Given the description of an element on the screen output the (x, y) to click on. 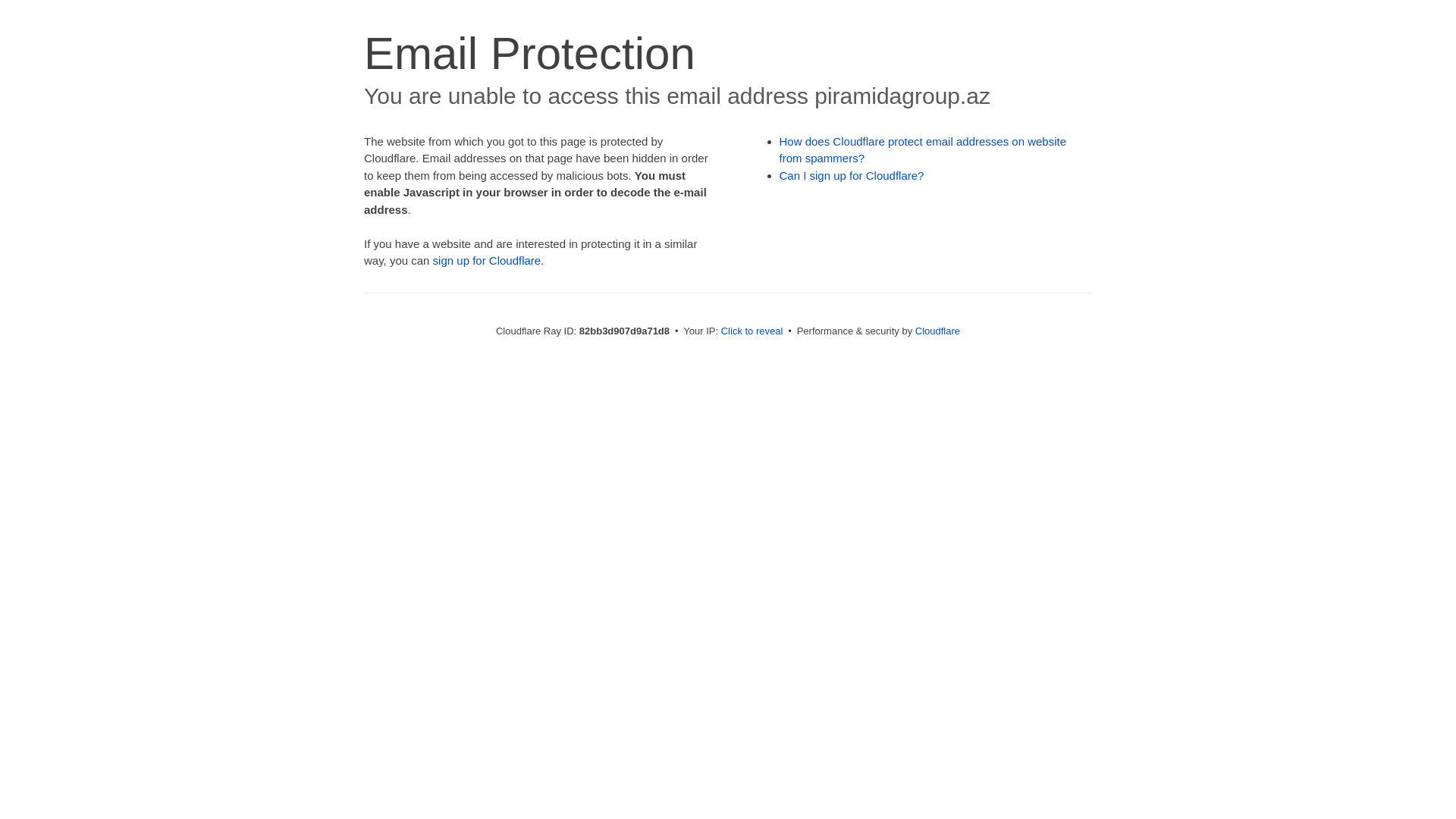
sign up for Cloudflare Element type: text (487, 260)
Cloudflare Element type: text (937, 330)
Can I sign up for Cloudflare? Element type: text (851, 175)
Click to reveal Element type: text (752, 330)
